Given the description of an element on the screen output the (x, y) to click on. 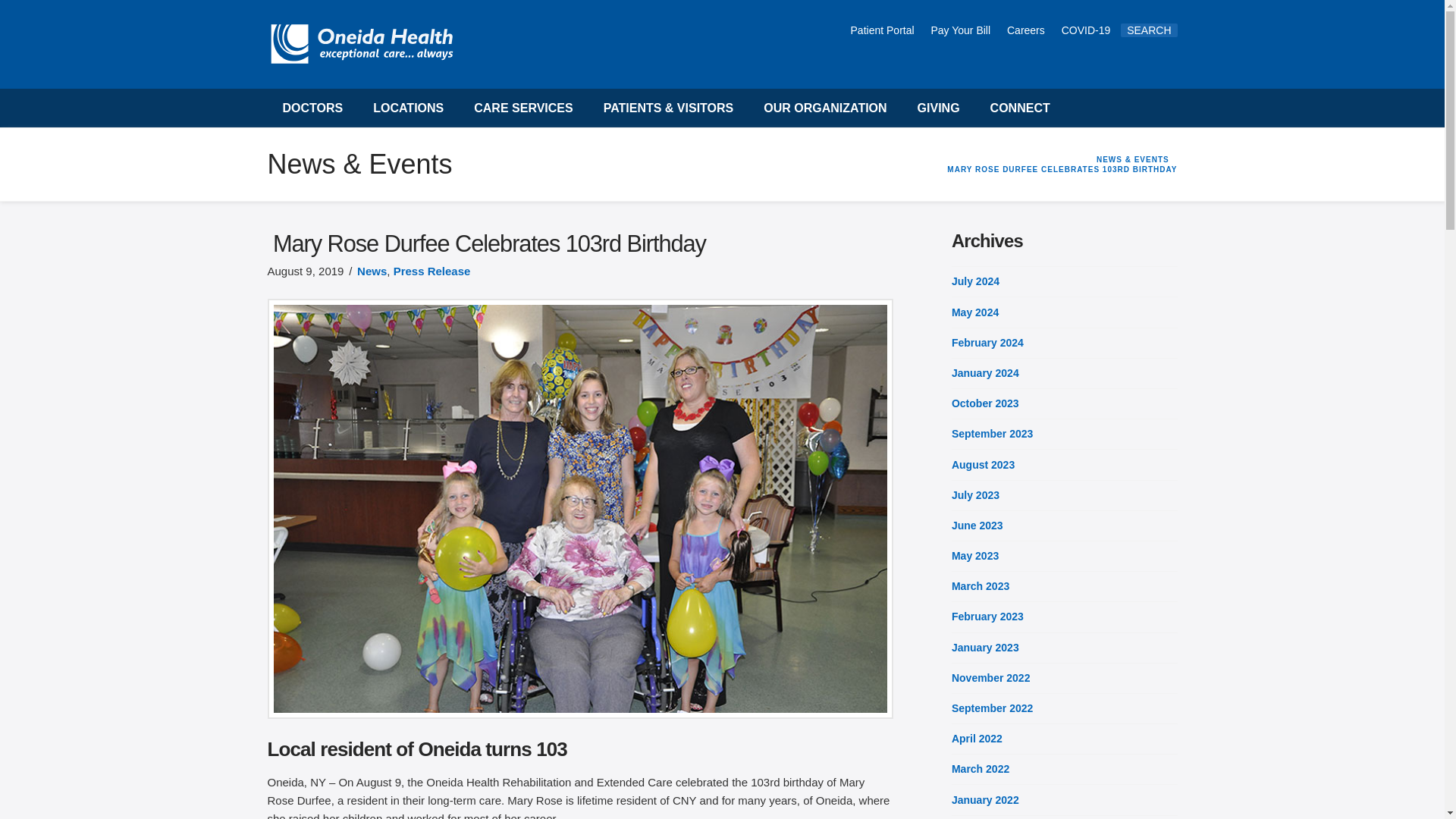
Careers (1026, 30)
February 2024 (987, 342)
June 2023 (977, 525)
May 2023 (975, 555)
CARE SERVICES (523, 107)
July 2024 (975, 281)
News (371, 270)
MARY ROSE DURFEE CELEBRATES 103RD BIRTHDAY (1061, 169)
DOCTORS (312, 107)
January 2024 (985, 372)
GIVING (938, 107)
Patient Portal (882, 30)
You Are Here (1061, 169)
October 2023 (985, 403)
LOCATIONS (408, 107)
